Given the description of an element on the screen output the (x, y) to click on. 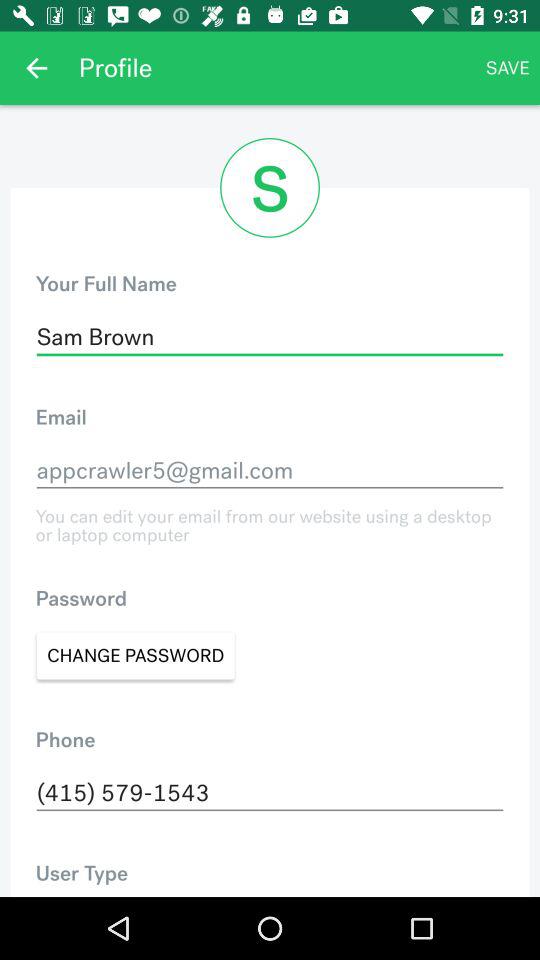
click icon next to the profile app (36, 68)
